Given the description of an element on the screen output the (x, y) to click on. 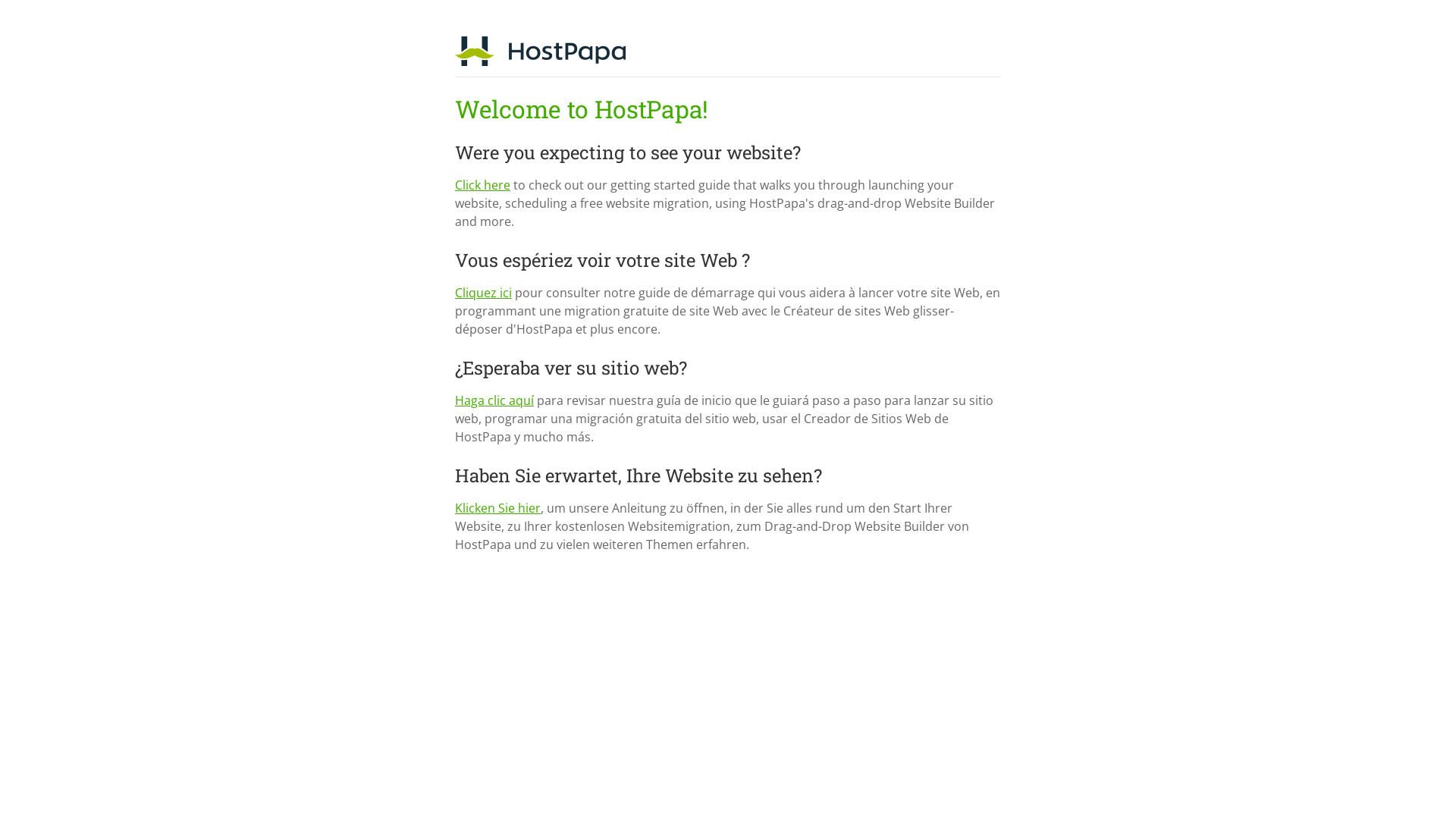
Klicken Sie hier Element type: text (497, 507)
Click here Element type: text (482, 184)
Cliquez ici Element type: text (483, 292)
